Given the description of an element on the screen output the (x, y) to click on. 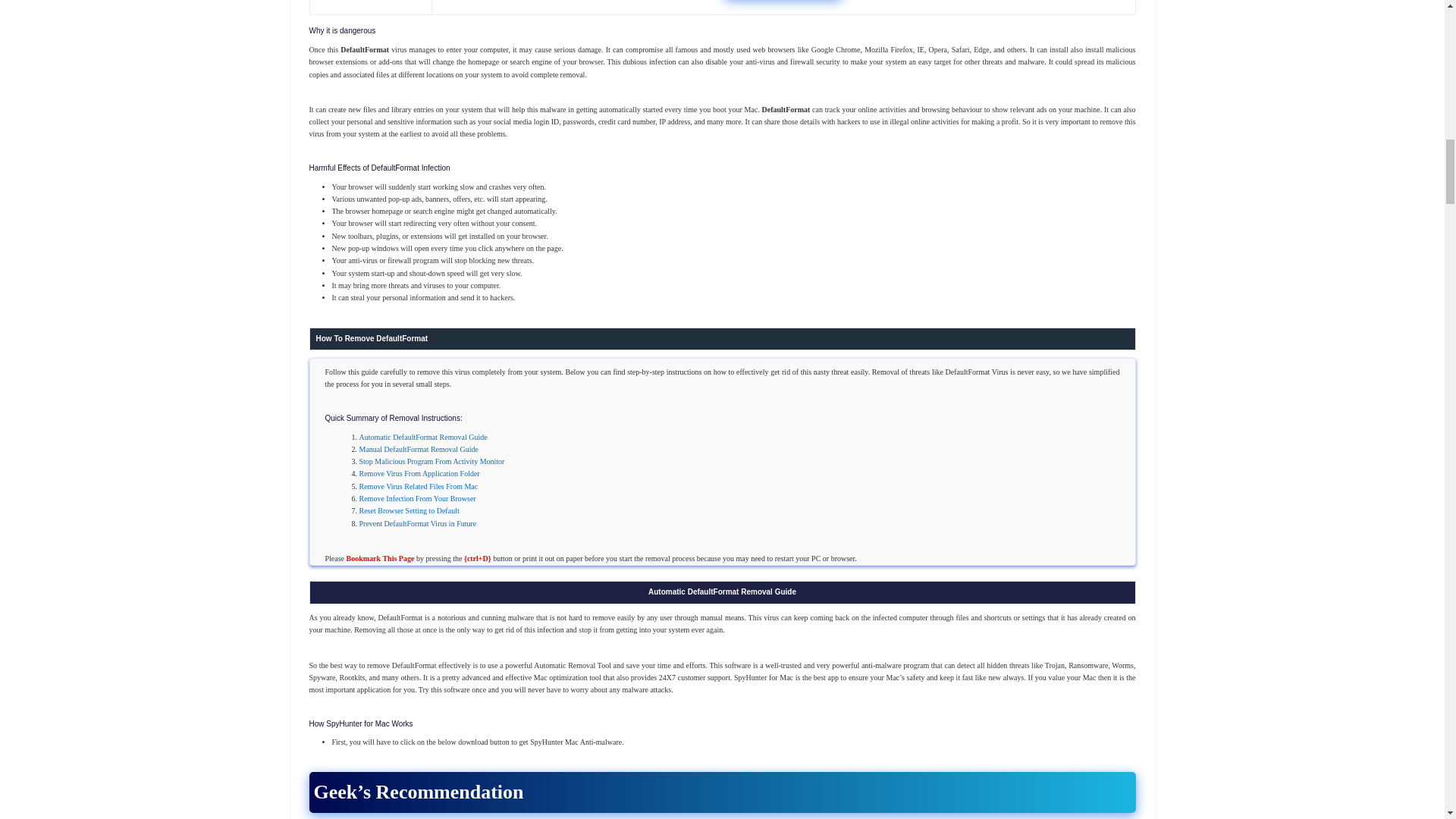
Remove Virus Related Files From Mac (419, 486)
Prevent DefaultFormat Virus in Future (418, 523)
Manual DefaultFormat Removal Guide (419, 449)
Remove Infection From Your Browser (417, 498)
Stop Malicious Program From Activity Monitor (432, 461)
Reset Browser Setting to Default (409, 510)
Automatic DefaultFormat Removal Guide (423, 437)
Remove Virus From Application Folder (419, 473)
